Given the description of an element on the screen output the (x, y) to click on. 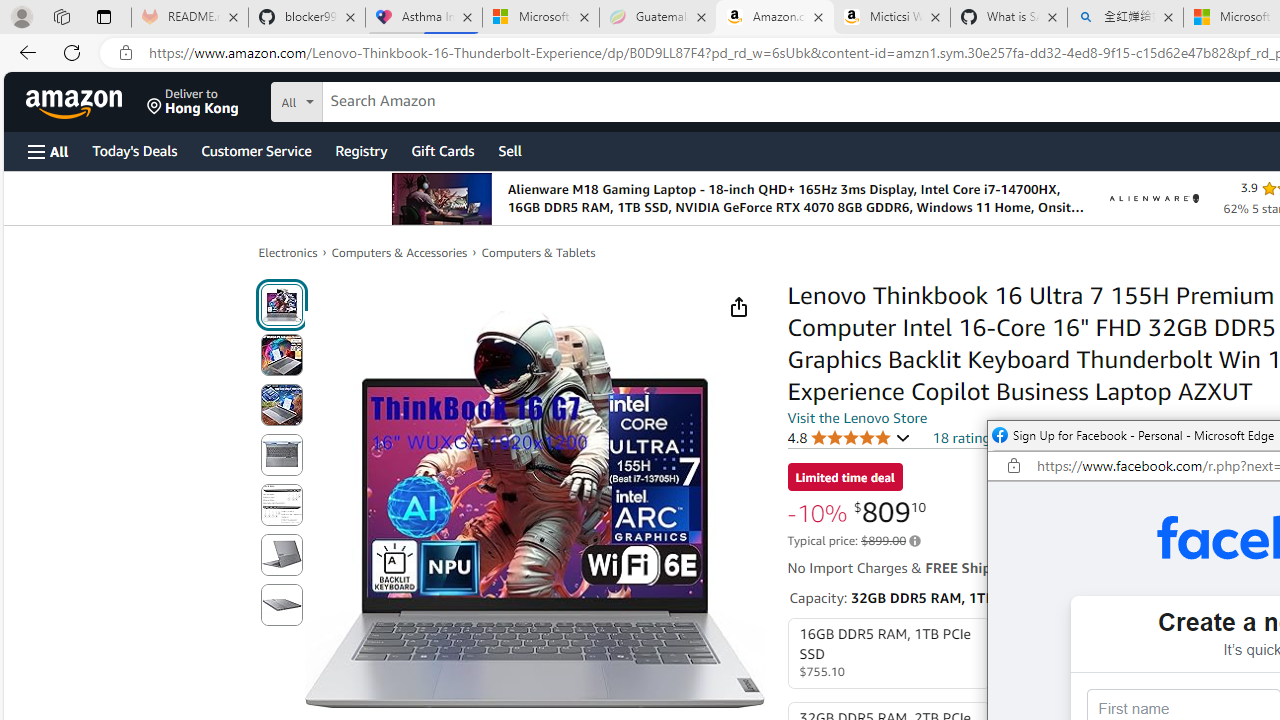
Computers & Accessories (399, 252)
Visit the Lenovo Store (857, 417)
Amazon (76, 101)
Computers & Tablets (538, 252)
